Given the description of an element on the screen output the (x, y) to click on. 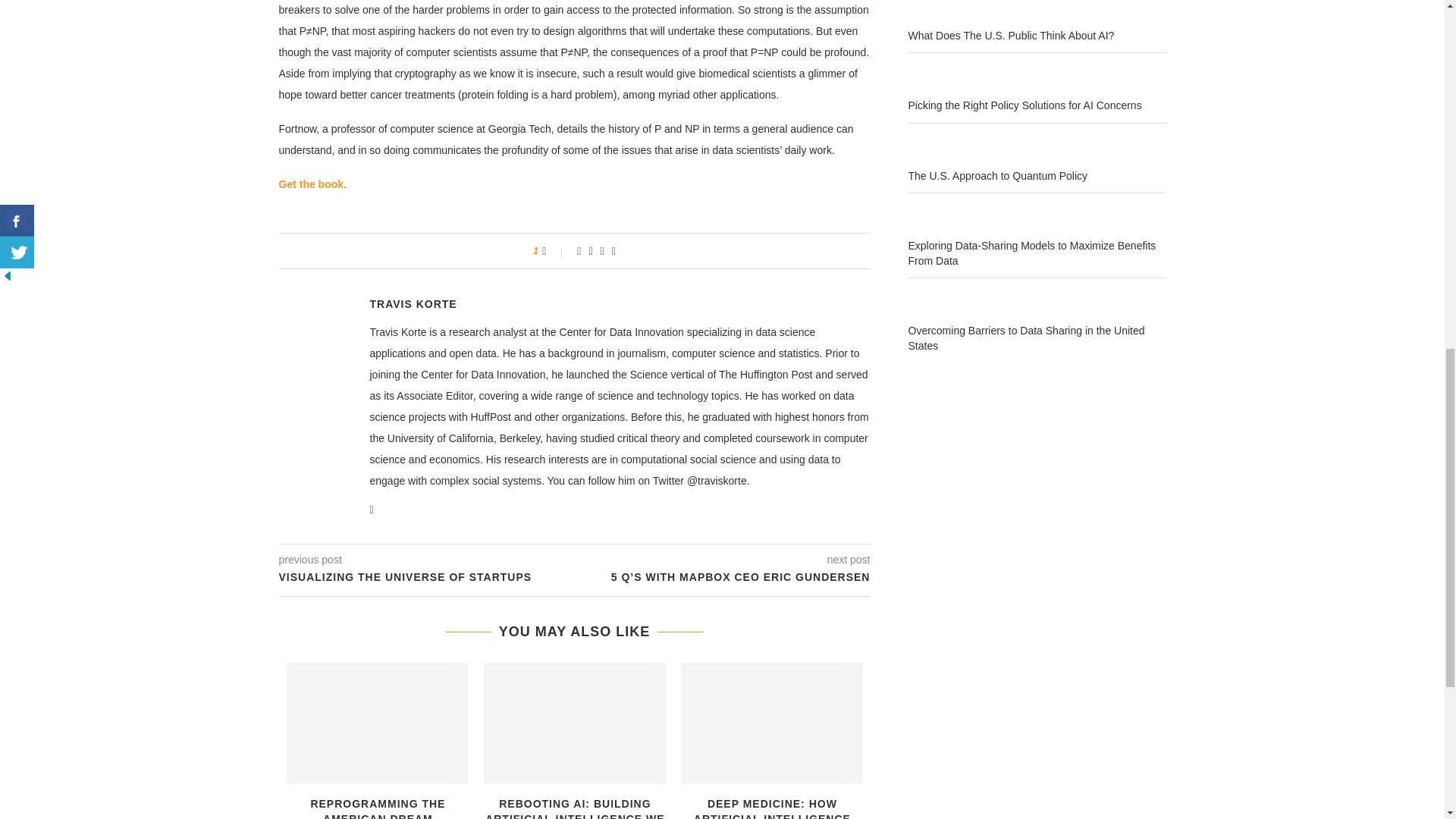
Reprogramming the American Dream (377, 722)
Like (553, 250)
Rebooting AI: Building Artificial Intelligence We Can Trust (574, 722)
